Given the description of an element on the screen output the (x, y) to click on. 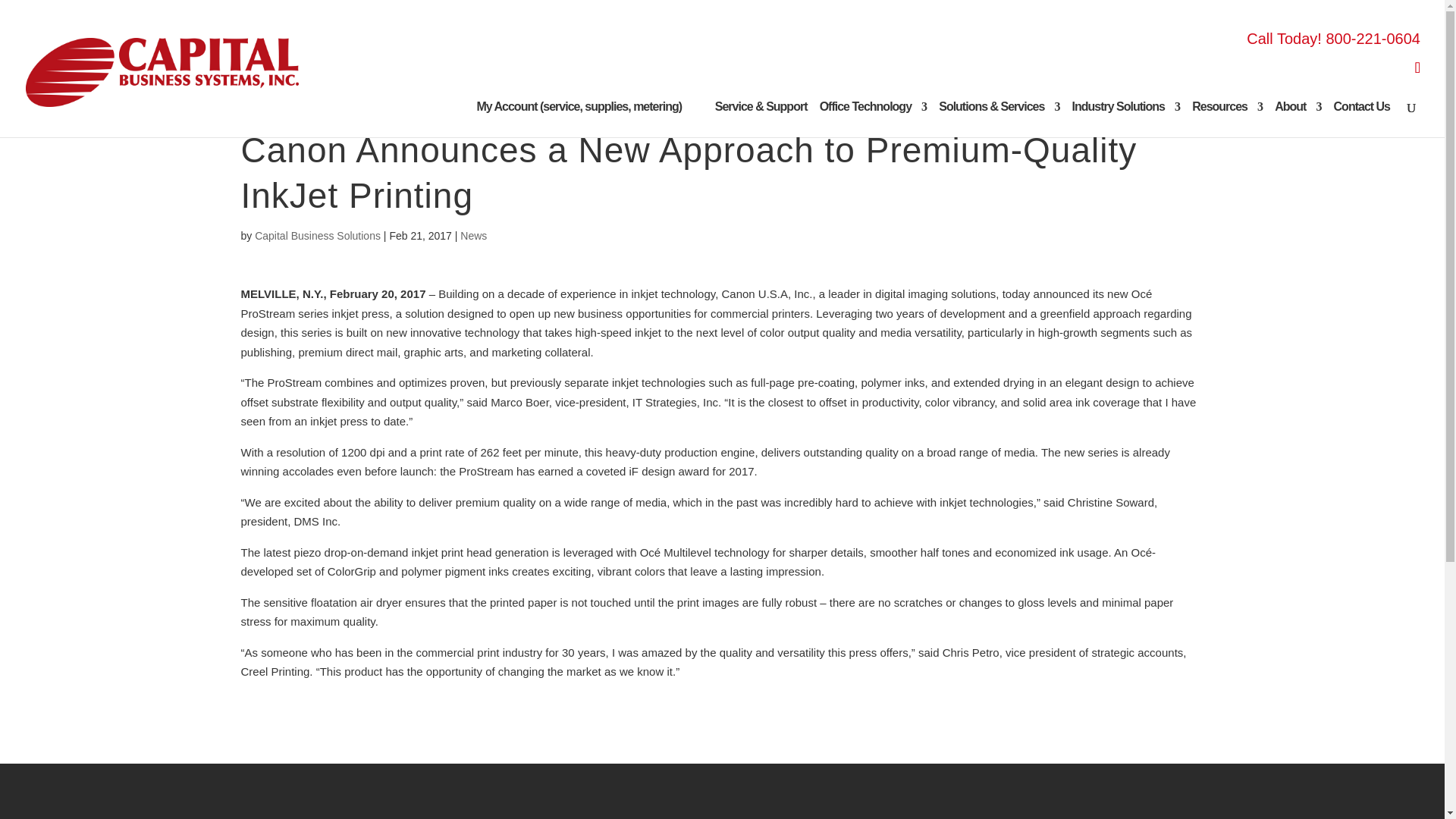
Posts by Capital Business Solutions (317, 235)
800-221-0604 (1372, 38)
Resources (1227, 119)
Office Technology (872, 119)
Industry Solutions (1125, 119)
